Given the description of an element on the screen output the (x, y) to click on. 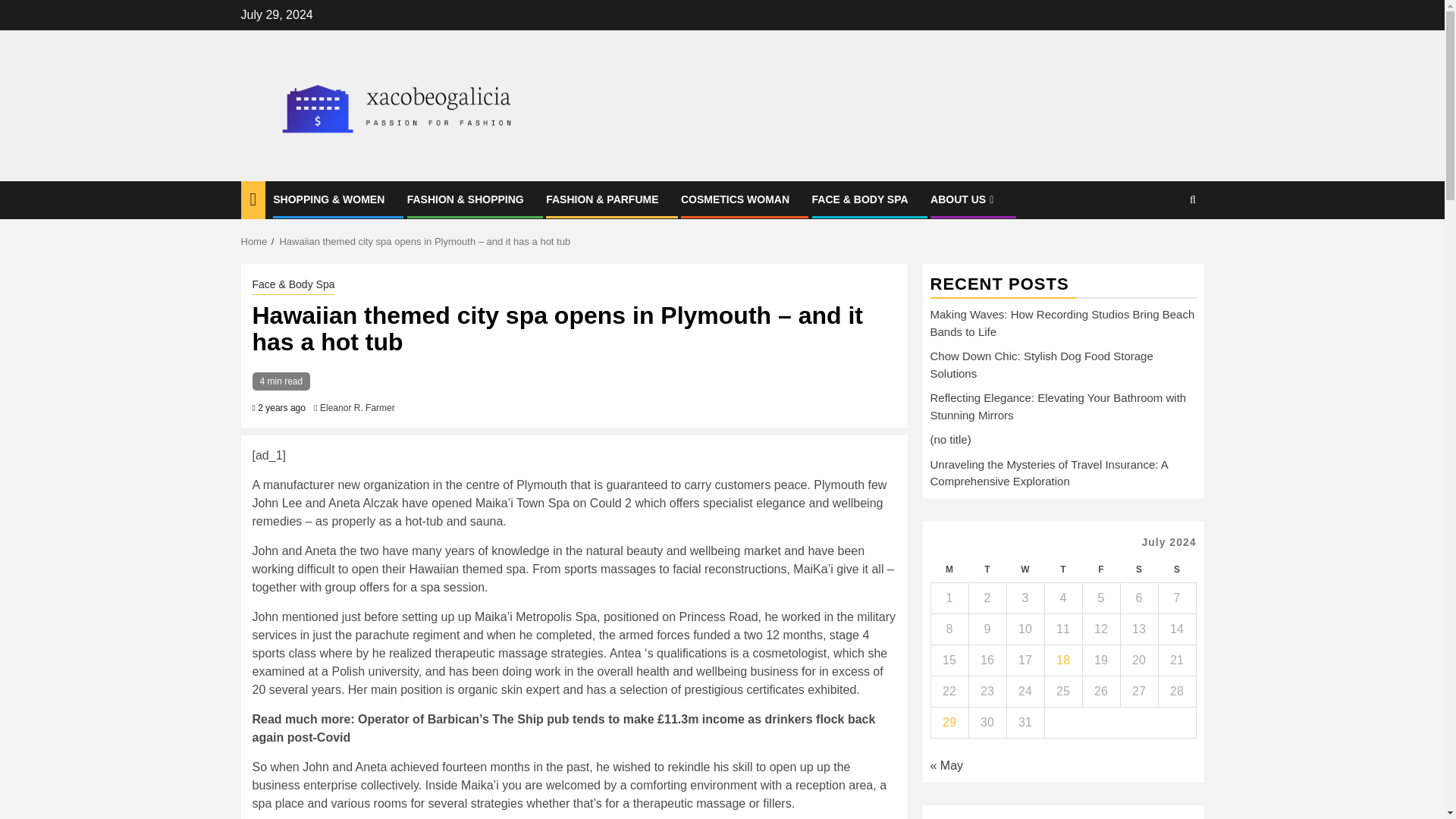
Monday (949, 569)
Tuesday (987, 569)
Friday (1100, 569)
Thursday (1062, 569)
Sunday (1176, 569)
ABOUT US (963, 199)
Eleanor R. Farmer (357, 407)
COSMETICS WOMAN (735, 199)
Home (254, 241)
Saturday (1138, 569)
Search (1163, 246)
Wednesday (1024, 569)
